Given the description of an element on the screen output the (x, y) to click on. 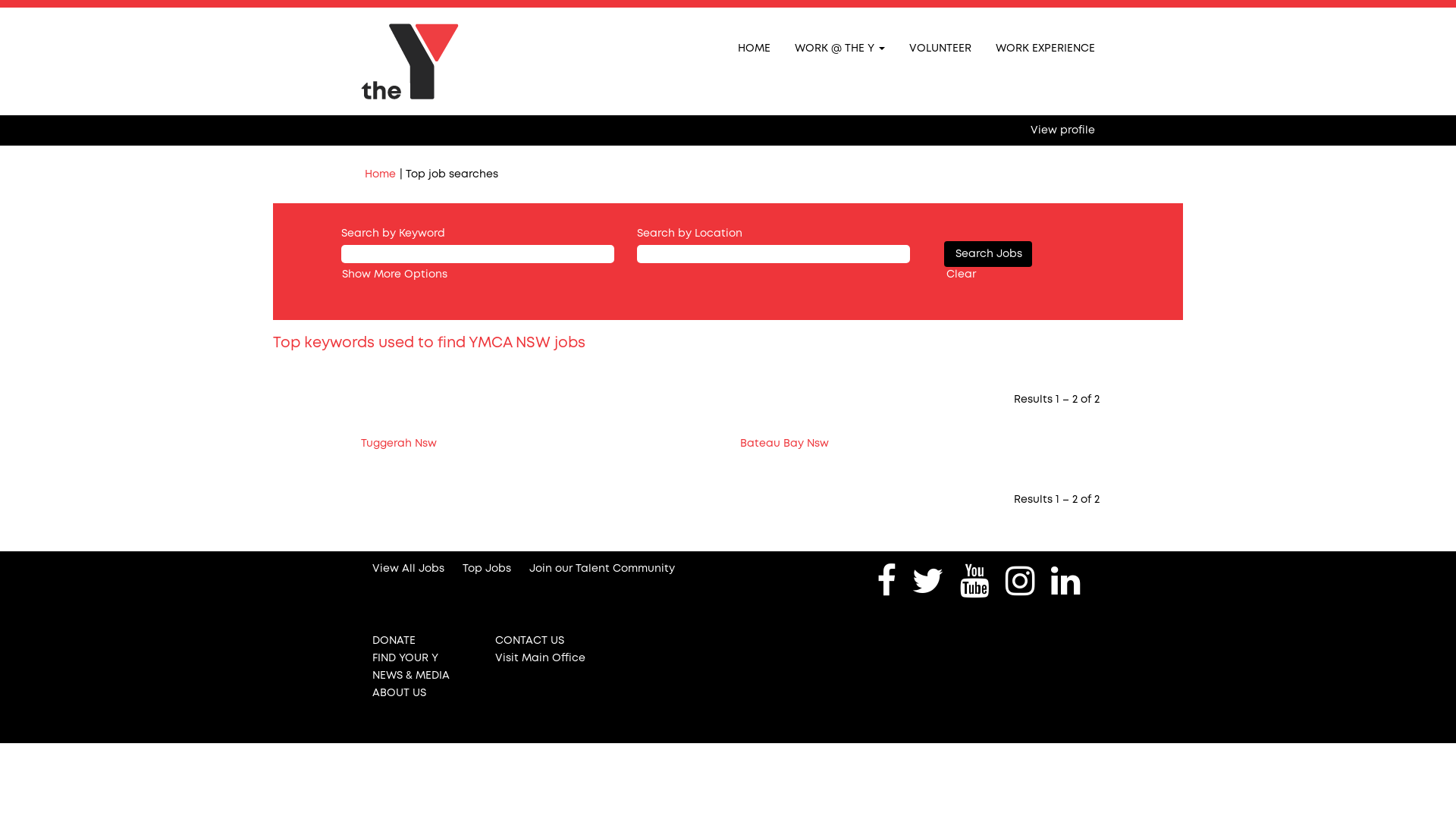
Show More Options Element type: text (394, 274)
CONTACT US Element type: text (544, 640)
facebook Element type: hover (886, 581)
DONATE Element type: text (421, 640)
Clear Element type: text (960, 274)
Bateau Bay Nsw Element type: text (784, 443)
View All Jobs Element type: text (408, 568)
Home Element type: text (380, 174)
linkedin Element type: hover (1065, 581)
youtube Element type: hover (974, 581)
twitter Element type: hover (927, 581)
WORK @ THE Y Element type: text (839, 47)
instagram Element type: hover (1019, 581)
FIND YOUR Y Element type: text (421, 658)
View profile Element type: text (1062, 130)
Top Jobs Element type: text (486, 568)
ABOUT US Element type: text (421, 693)
NEWS & MEDIA Element type: text (421, 675)
Join our Talent Community Element type: text (601, 568)
Visit Main Office Element type: text (544, 658)
HOME Element type: text (754, 47)
Search Jobs Element type: text (988, 253)
Tuggerah Nsw Element type: text (398, 443)
VOLUNTEER Element type: text (940, 47)
WORK EXPERIENCE Element type: text (1044, 47)
